Given the description of an element on the screen output the (x, y) to click on. 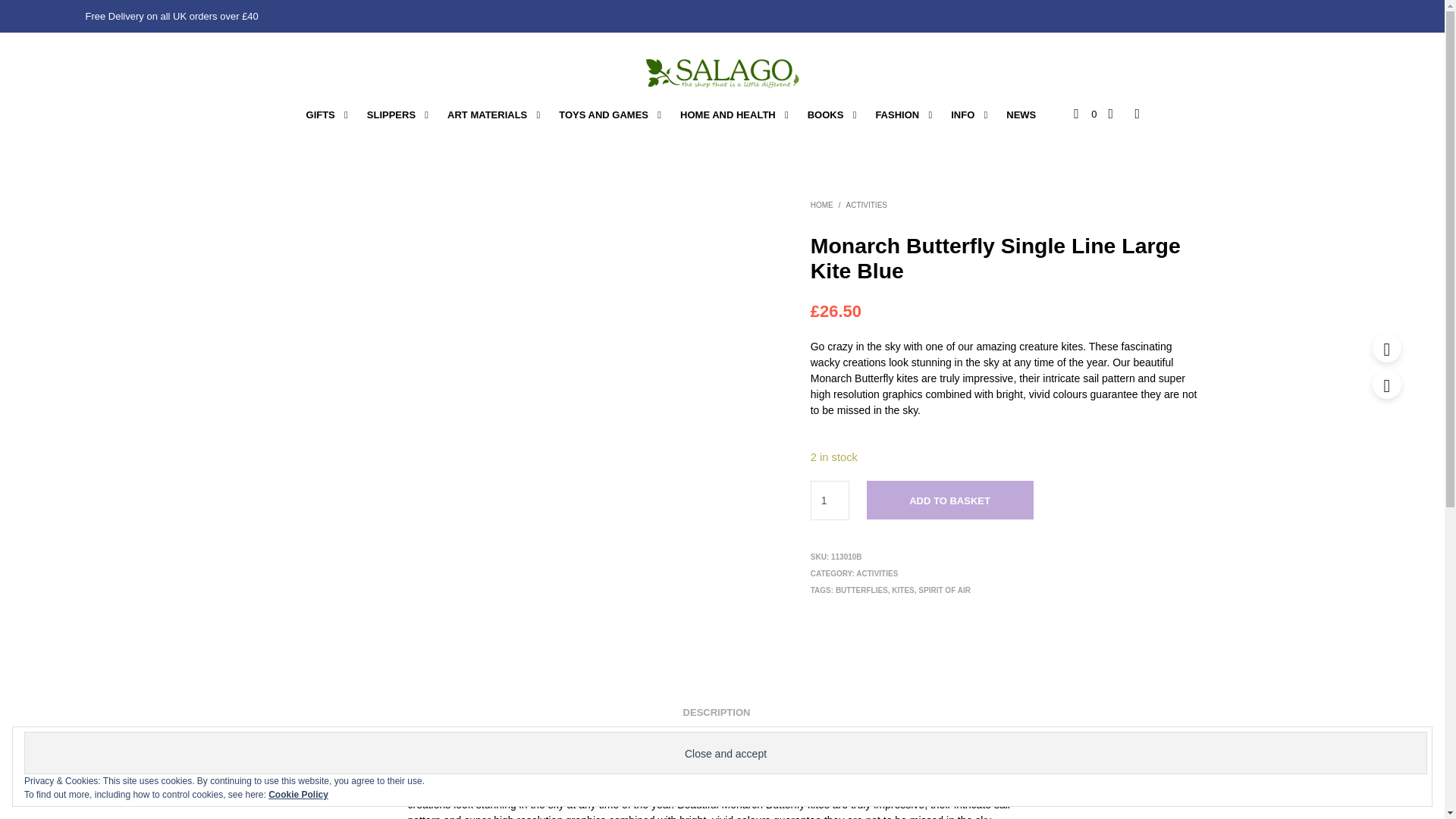
GIFTS (320, 114)
ART MATERIALS (486, 114)
SLIPPERS (390, 114)
TOYS AND GAMES (603, 114)
1 (829, 500)
Close and accept (725, 752)
